Given the description of an element on the screen output the (x, y) to click on. 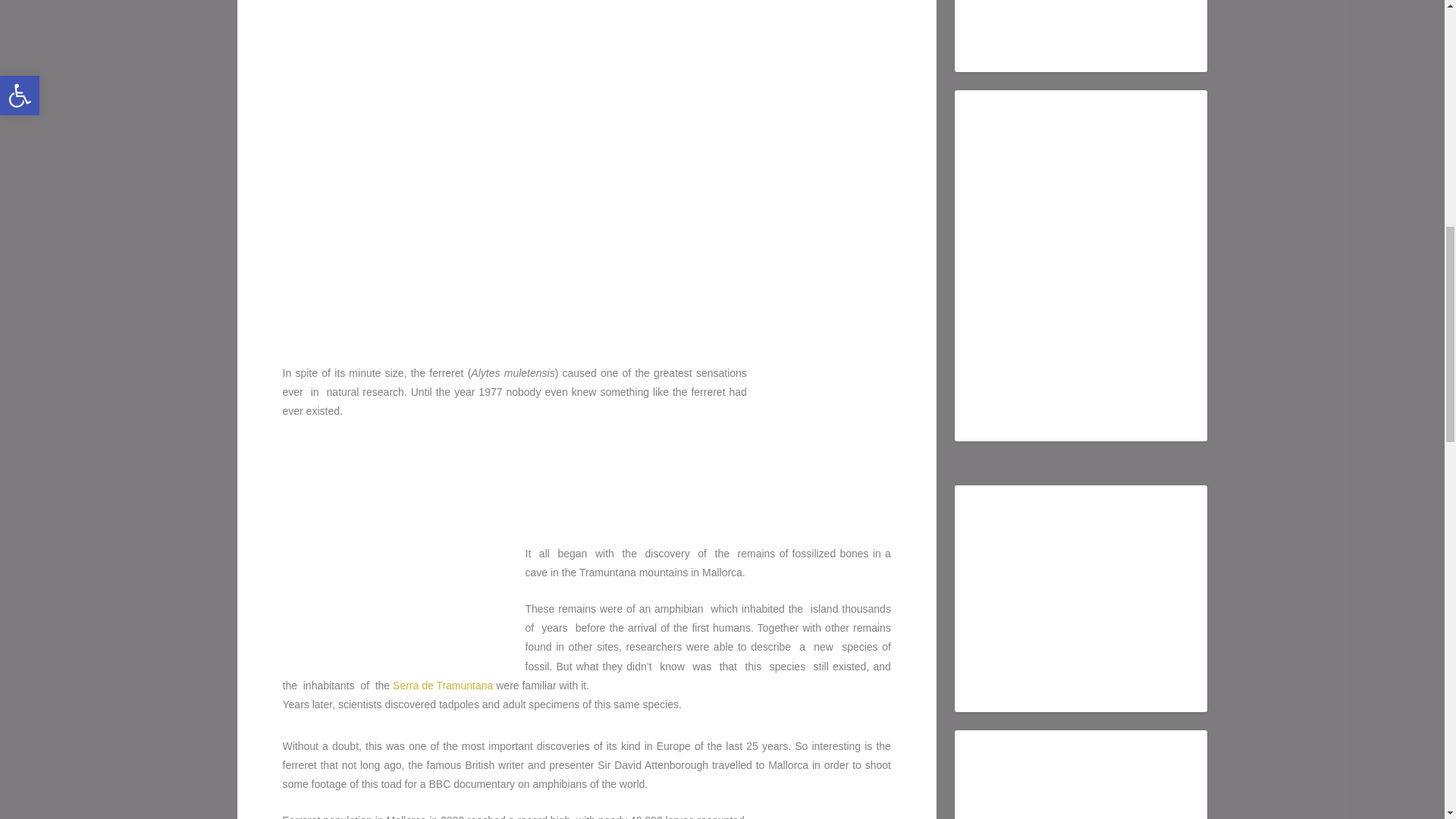
Serra de Tramuntana (443, 685)
Serra de Tramuntana (443, 685)
